Given the description of an element on the screen output the (x, y) to click on. 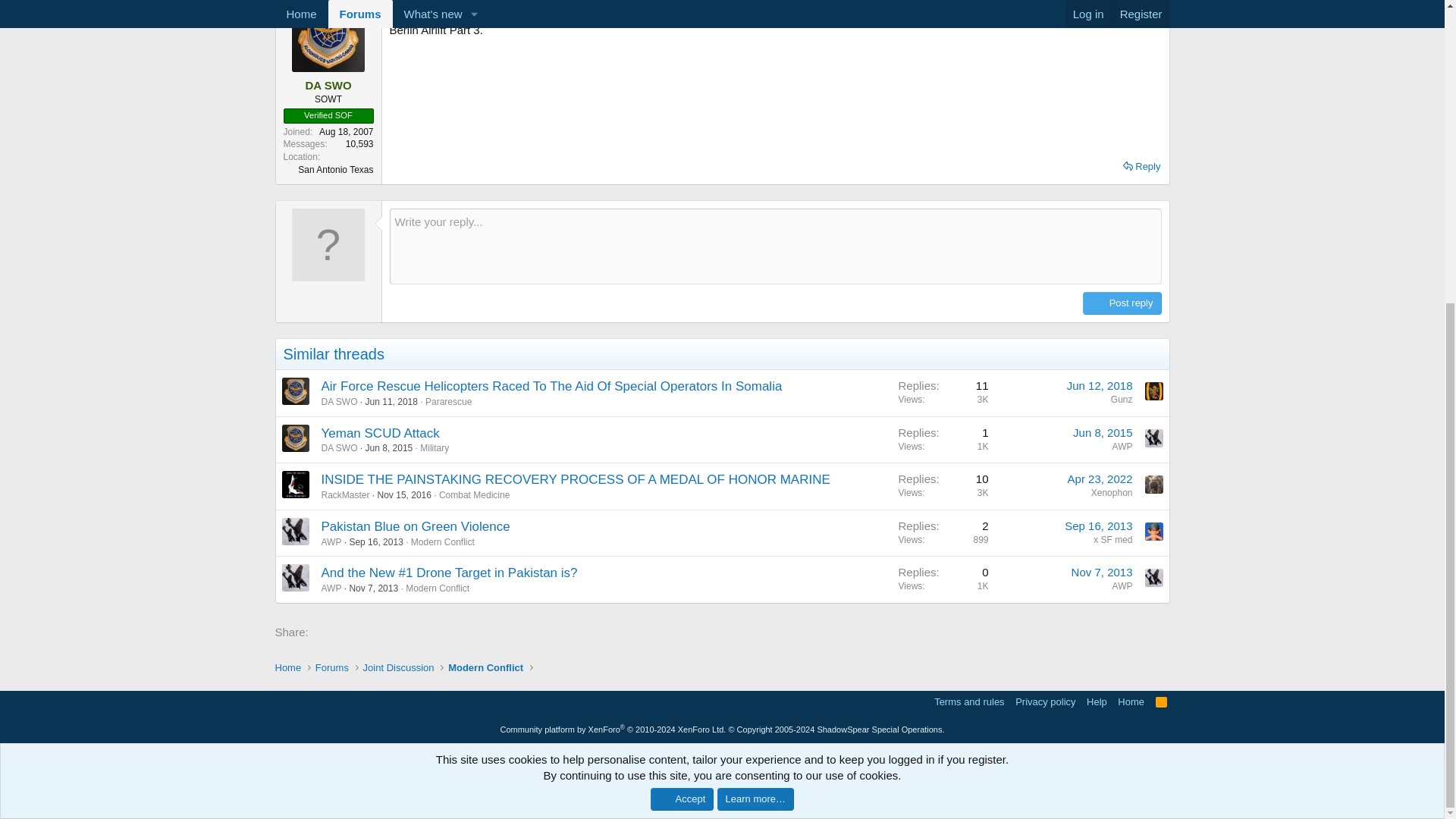
Style variation (282, 700)
Sep 16, 2013 at 11:35 AM (1098, 525)
San Antonio Texas (335, 169)
Jun 8, 2015 at 10:04 PM (389, 448)
Nov 7, 2013 at 2:57 PM (373, 588)
First message reaction score: 0 (942, 439)
Nov 15, 2016 at 5:28 PM (403, 494)
Jun 11, 2018 at 11:03 PM (391, 401)
Apr 23, 2022 at 8:05 PM (1099, 478)
Sep 16, 2013 at 12:49 AM (376, 542)
Jun 8, 2015 at 11:18 PM (1102, 431)
Feb 16, 2012 (417, 5)
Feb 16, 2012 at 10:48 PM (417, 5)
Reply, quoting this message (1141, 166)
First message reaction score: 4 (942, 579)
